Given the description of an element on the screen output the (x, y) to click on. 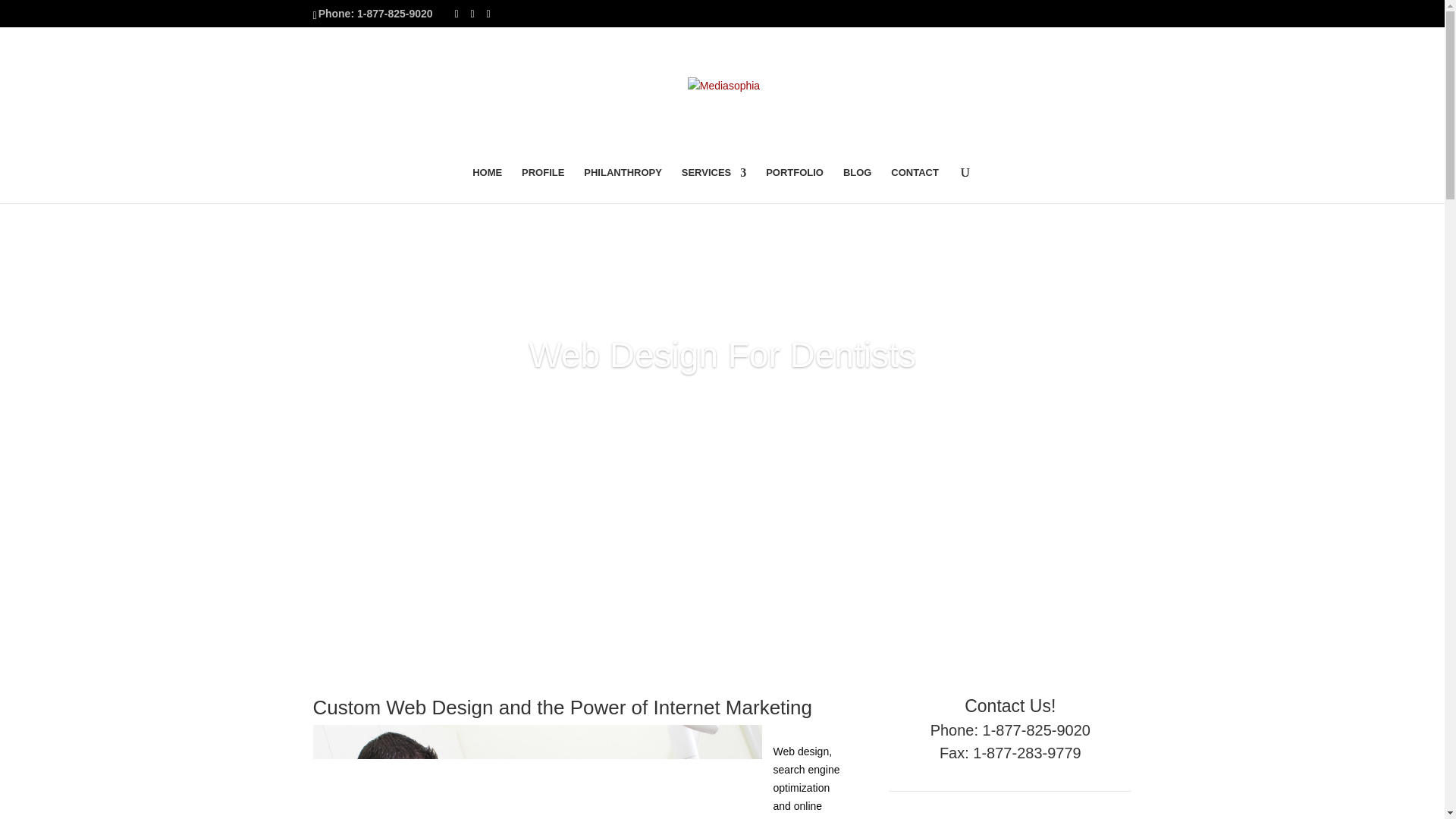
PORTFOLIO (794, 185)
SERVICES (713, 185)
PROFILE (542, 185)
CONTACT (915, 185)
PHILANTHROPY (622, 185)
